Given the description of an element on the screen output the (x, y) to click on. 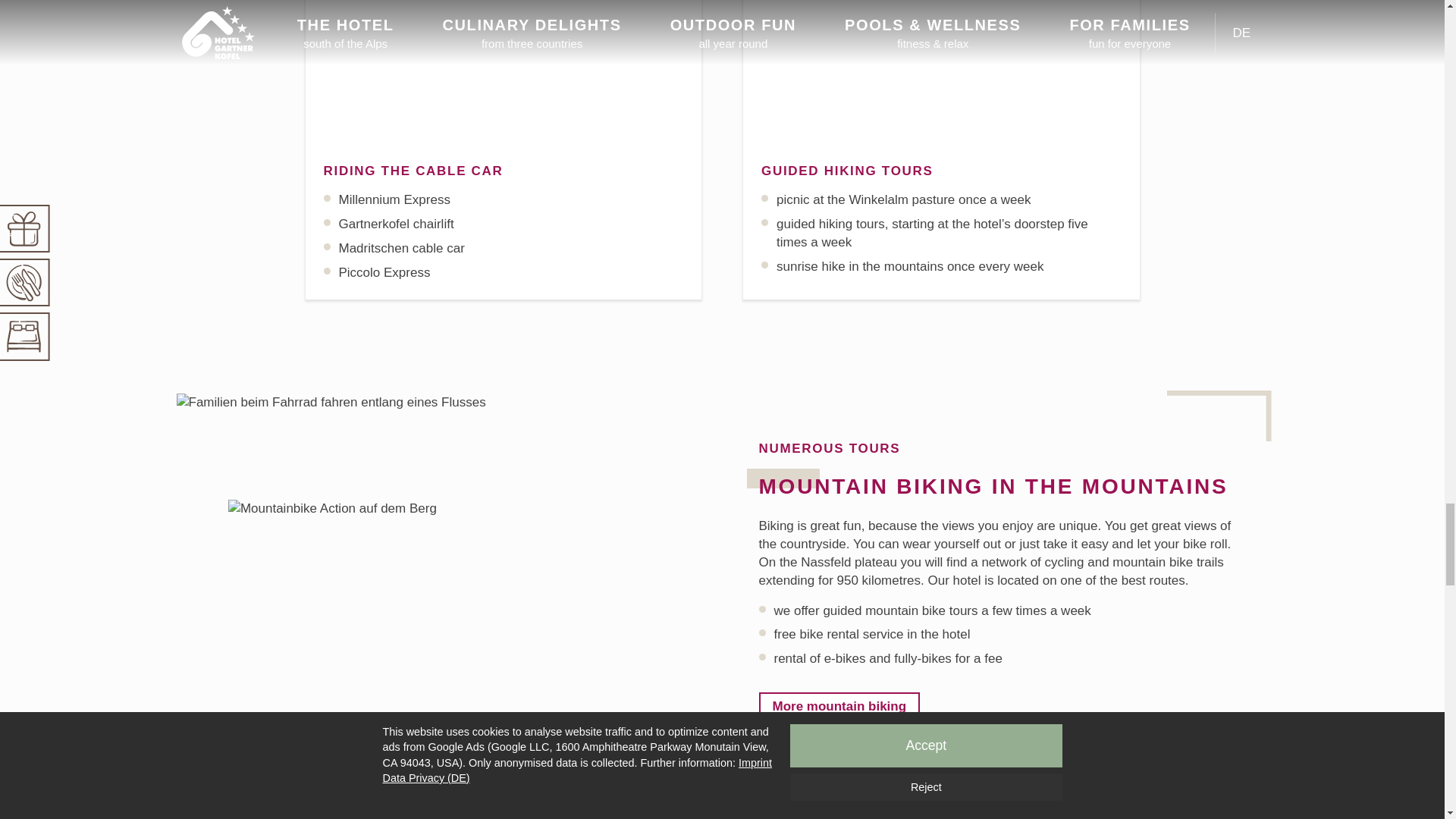
Mountainbike Action auf dem Berg (475, 508)
Familien beim Fahrrad fahren entlang eines Flusses (337, 402)
Familie beim Wandern auf den Cima di Terra Rossa (941, 72)
Blick auf den Gartnerkofel Berg mit Bergbahnen (502, 72)
